Given the description of an element on the screen output the (x, y) to click on. 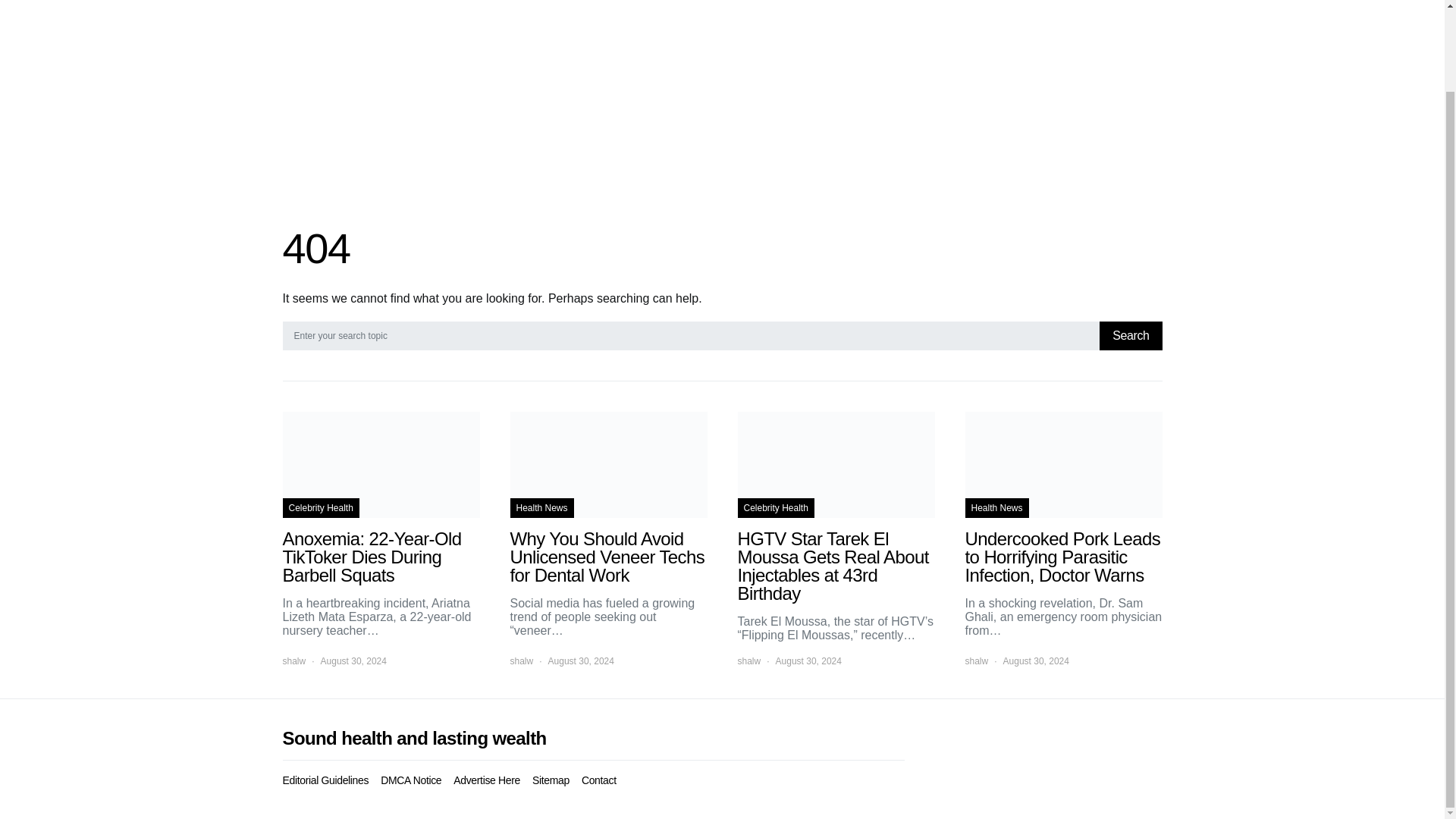
View all posts by shalw (293, 661)
View all posts by shalw (748, 661)
shalw (293, 661)
Search (1130, 335)
View all posts by shalw (975, 661)
Celebrity Health (320, 507)
View all posts by shalw (520, 661)
